Given the description of an element on the screen output the (x, y) to click on. 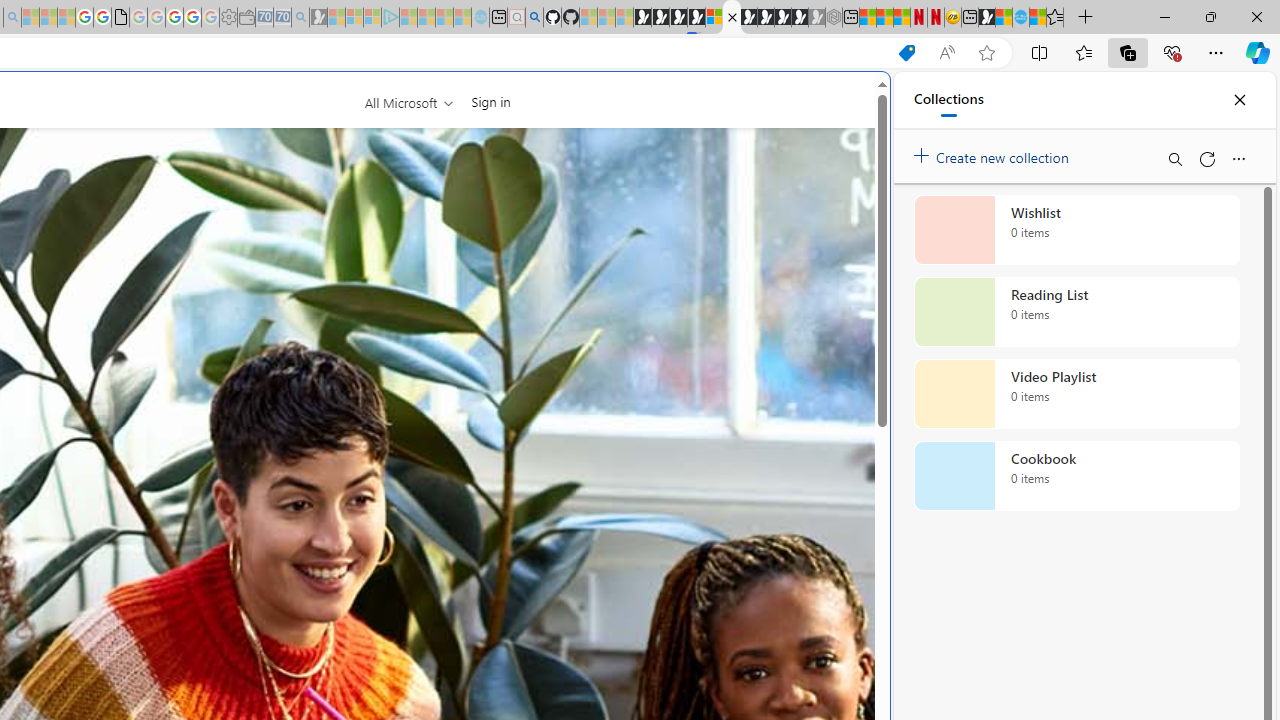
Cookbook collection, 0 items (1076, 475)
